Given the description of an element on the screen output the (x, y) to click on. 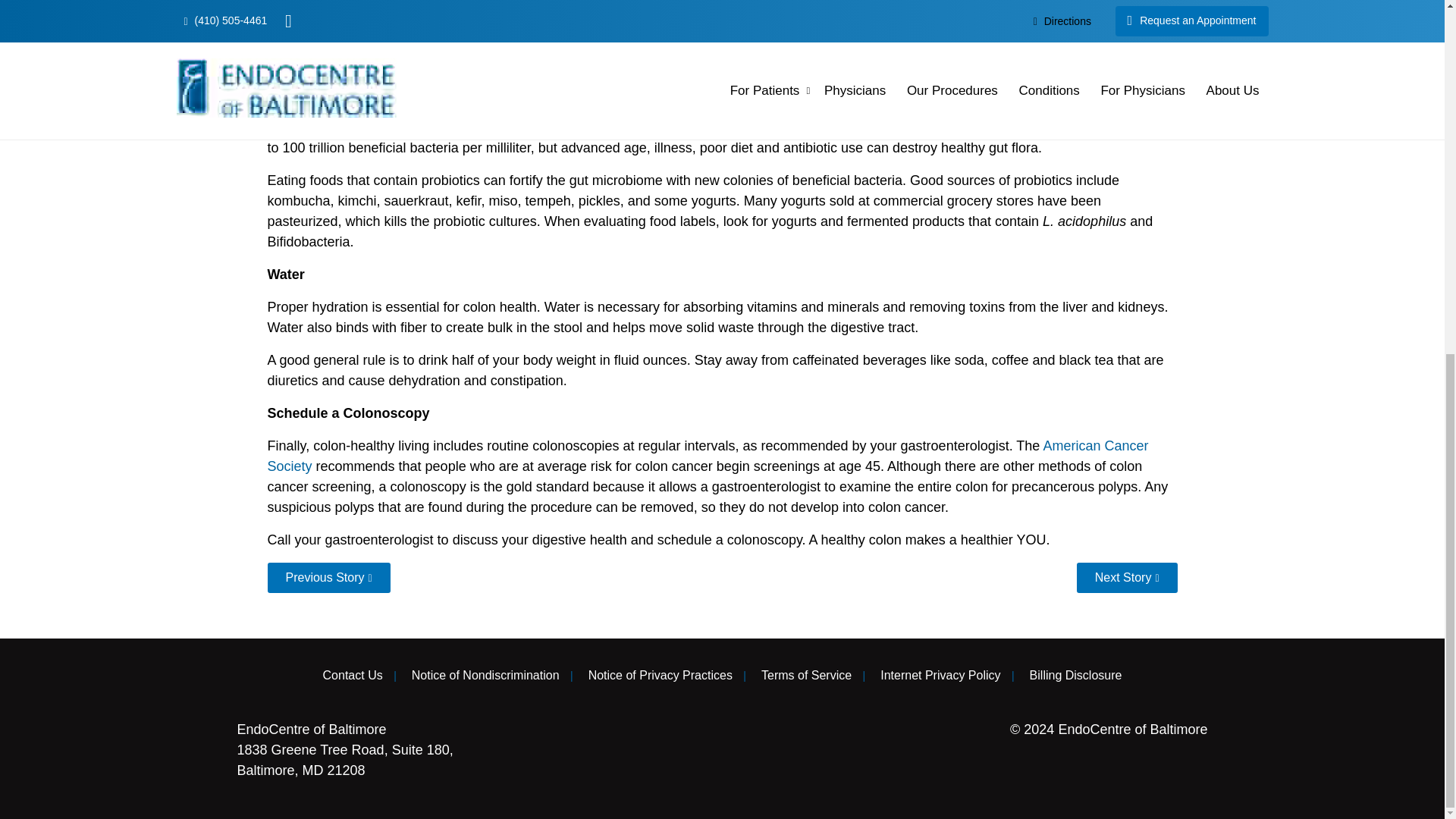
Previous Story (328, 577)
Next Story (1127, 577)
Notice of Nondiscrimination (485, 675)
Internet Privacy Policy (940, 675)
Probiotics (296, 127)
Billing Disclosure (1075, 675)
American Cancer Society (707, 456)
Contact Us (352, 675)
Notice of Privacy Practices (660, 675)
Terms of Service (806, 675)
